Given the description of an element on the screen output the (x, y) to click on. 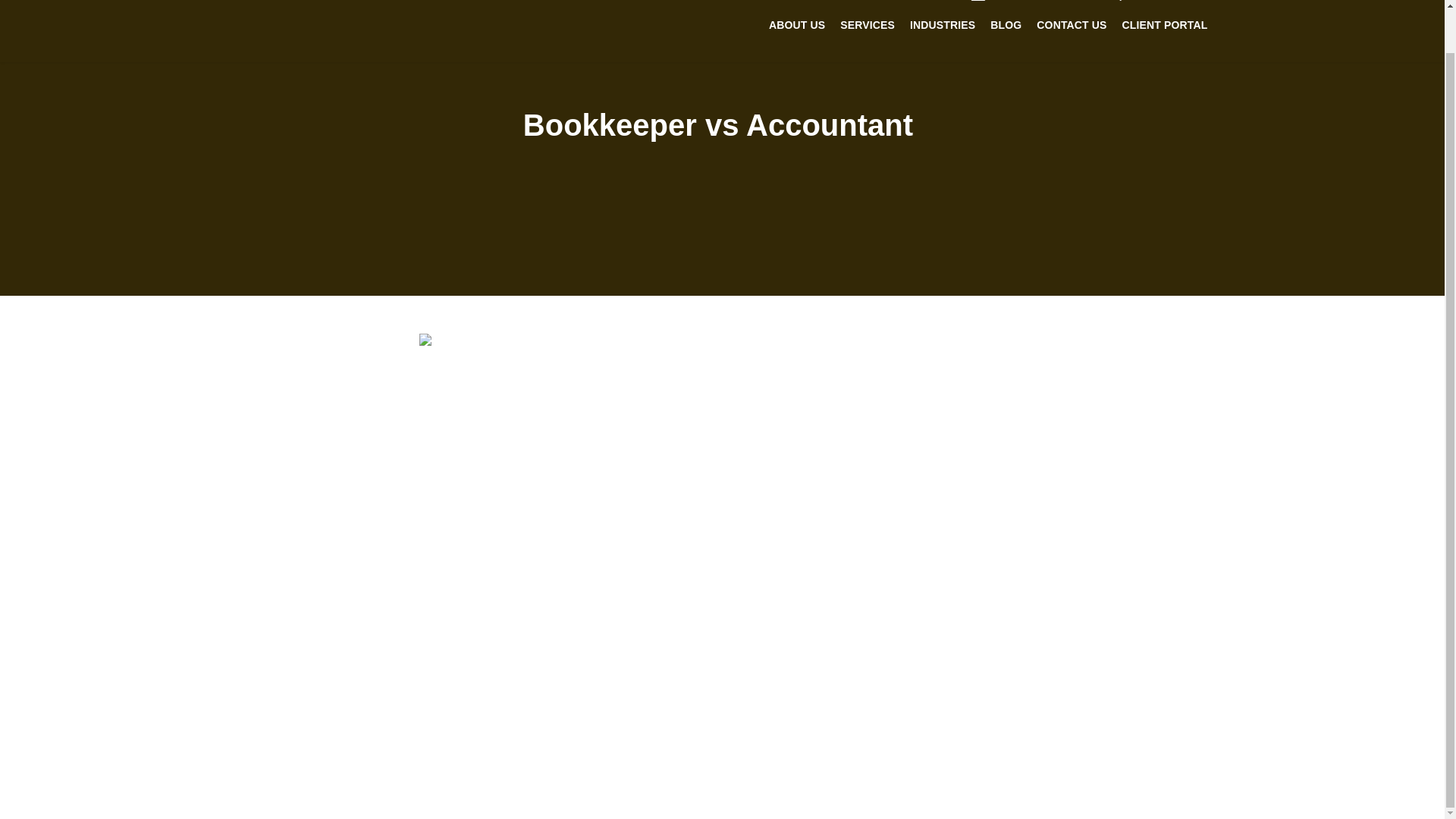
CONTACT US (1071, 24)
SERVICES (867, 24)
CLIENT PORTAL (1165, 24)
ABOUT US (796, 24)
INDUSTRIES (942, 24)
BLOG (1005, 24)
414-774-1031 (1164, 0)
Book a Consultation (1036, 0)
